Given the description of an element on the screen output the (x, y) to click on. 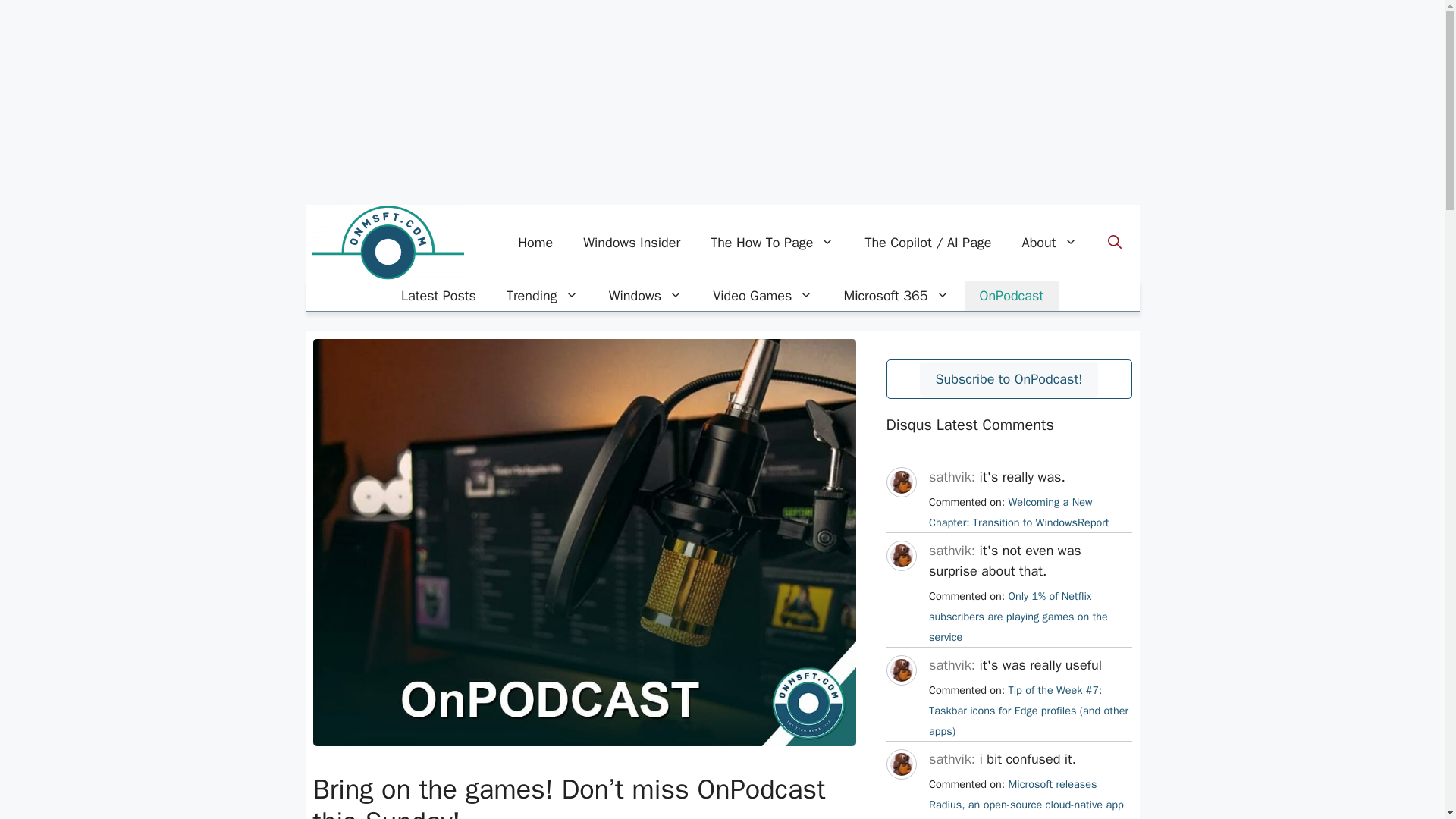
July 24, 2024 (1018, 512)
sathvik (900, 699)
July 11, 2024 (1018, 615)
About (1050, 242)
Windows Insider (631, 242)
Windows (645, 295)
Video Games (762, 295)
July 8, 2024 (1028, 710)
June 15, 2024 (1026, 798)
